Given the description of an element on the screen output the (x, y) to click on. 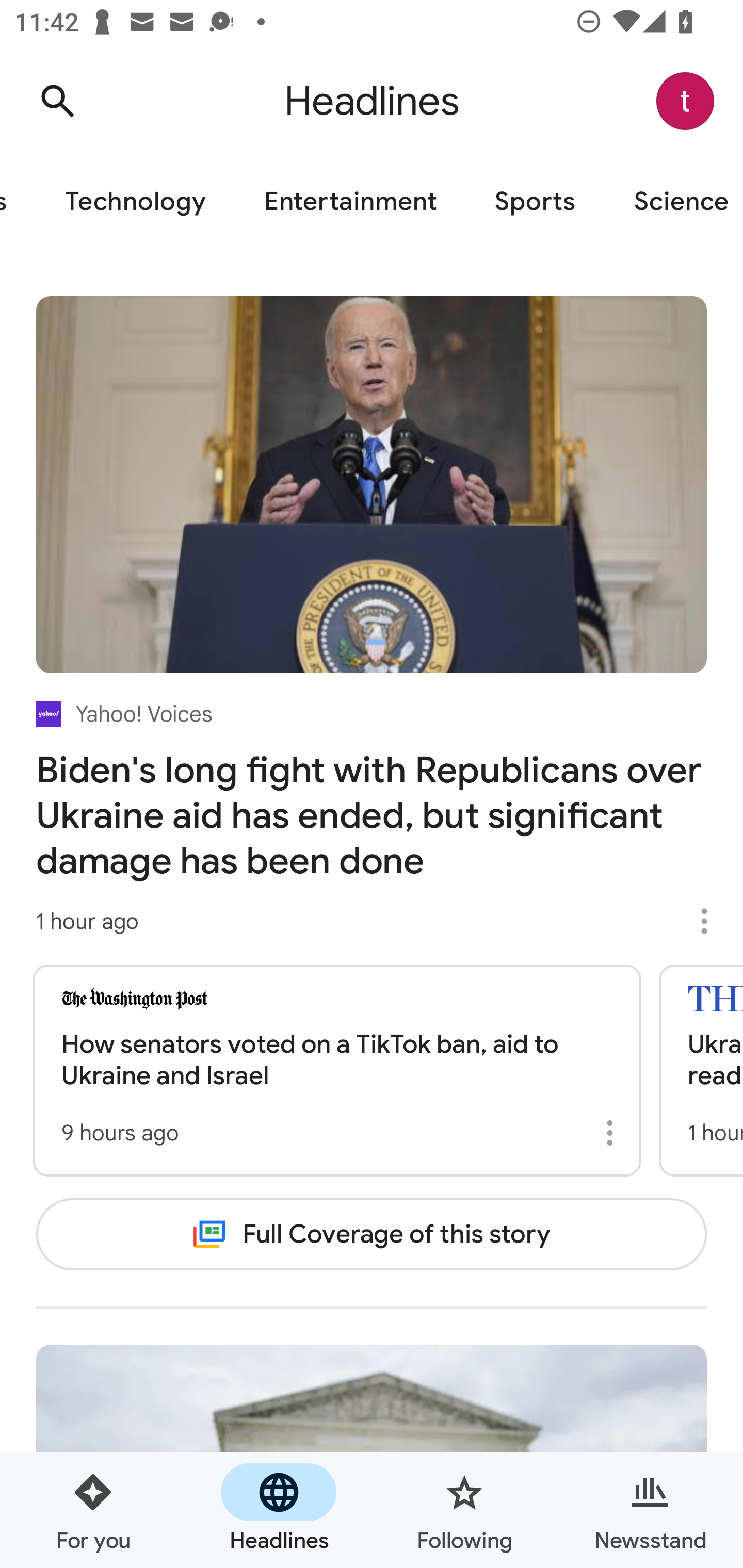
Search (57, 100)
Technology (134, 202)
Entertainment (349, 202)
Sports (534, 202)
Science (673, 202)
More options (711, 921)
More options (613, 1132)
Full Coverage of this story (371, 1233)
For you (92, 1509)
Headlines (278, 1509)
Following (464, 1509)
Newsstand (650, 1509)
